Given the description of an element on the screen output the (x, y) to click on. 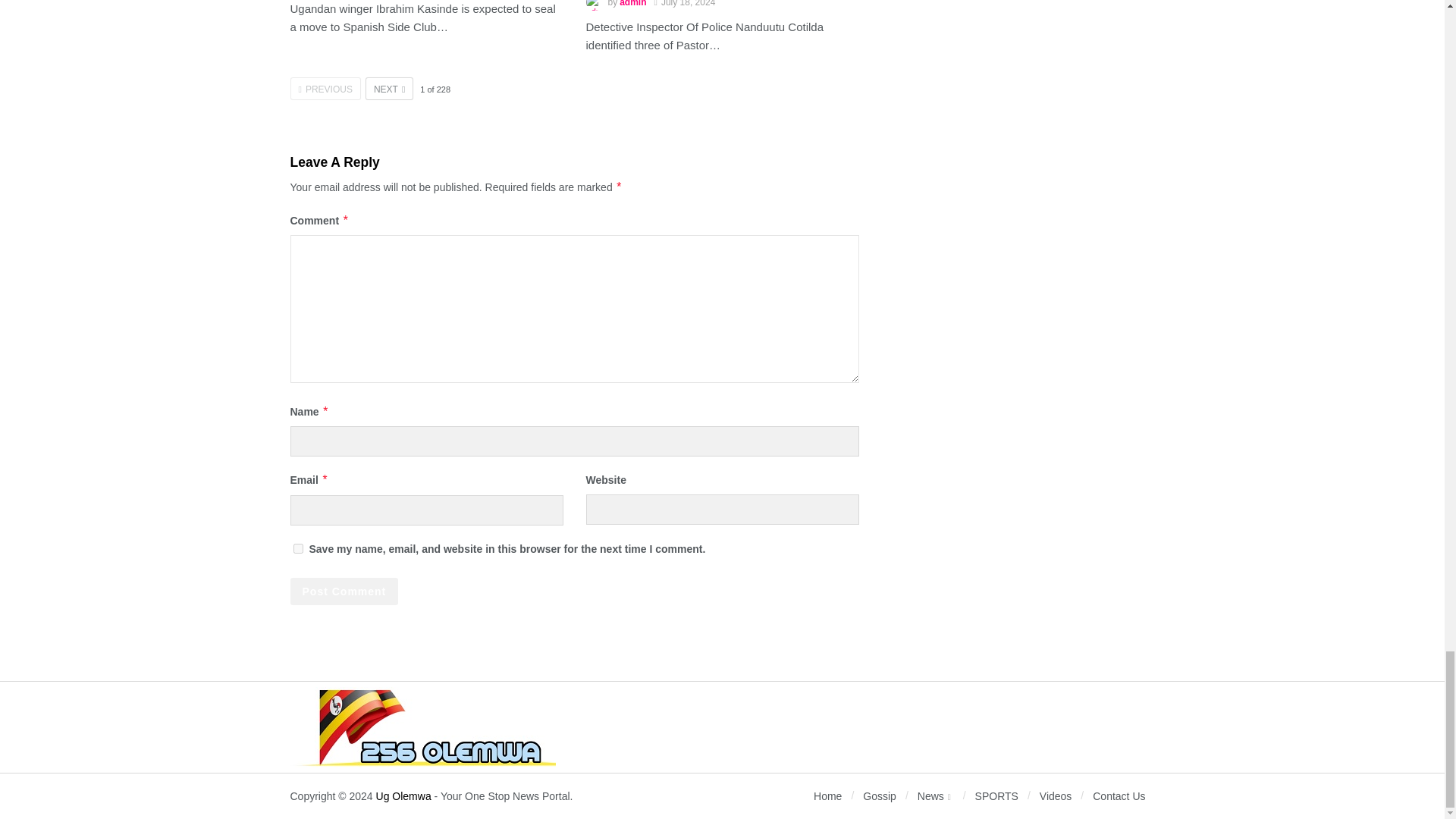
Post Comment (343, 591)
yes (297, 548)
